Given the description of an element on the screen output the (x, y) to click on. 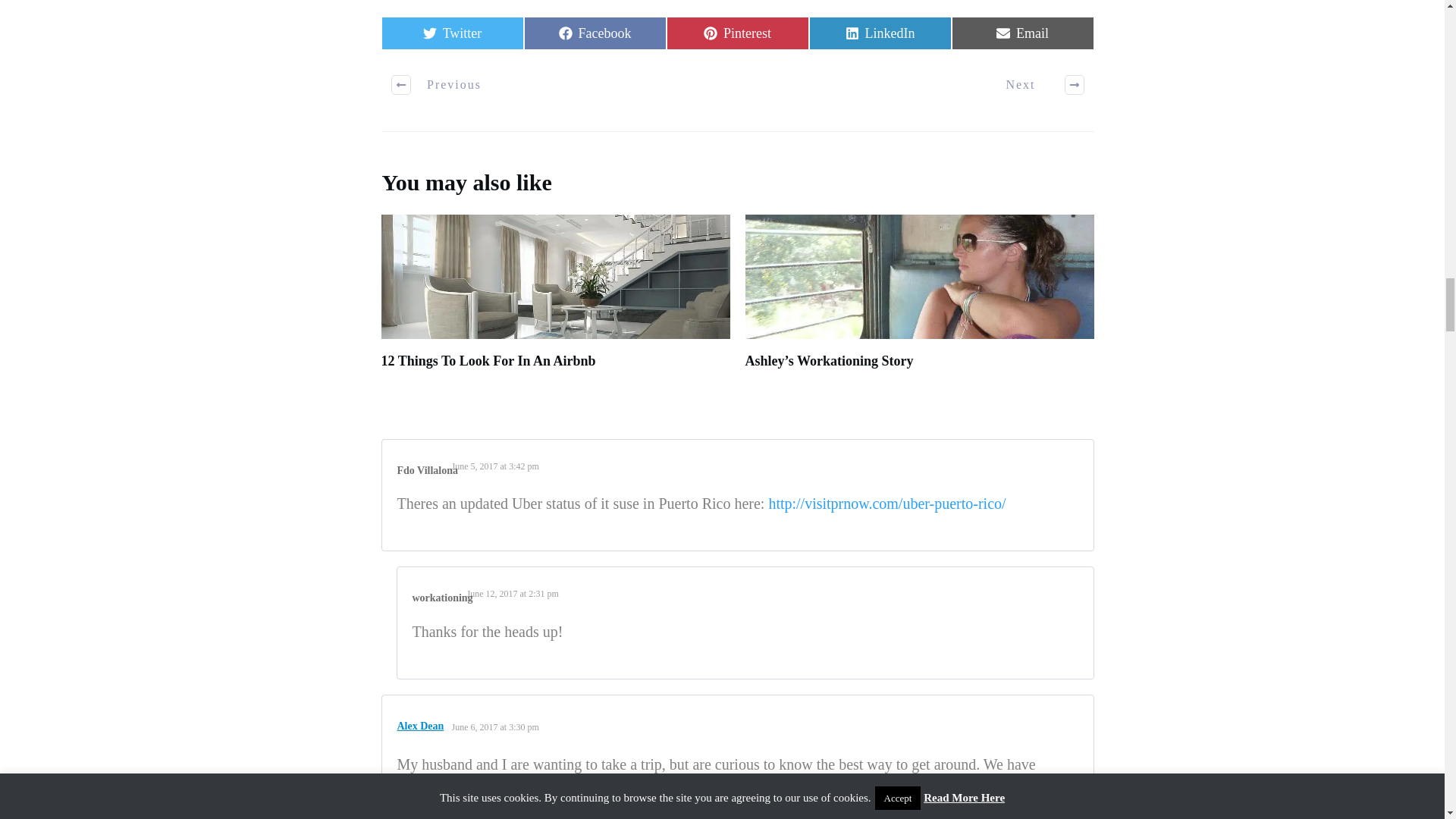
12 Things To Look For In An Airbnb (1021, 32)
June 12, 2017 at 2:31 pm (451, 32)
12 Things To Look For In An Airbnb (487, 360)
June 6, 2017 at 3:30 pm (736, 32)
Previous (513, 593)
12 Things To Look For In An Airbnb (554, 303)
June 5, 2017 at 3:42 pm (879, 32)
Next (494, 726)
